Given the description of an element on the screen output the (x, y) to click on. 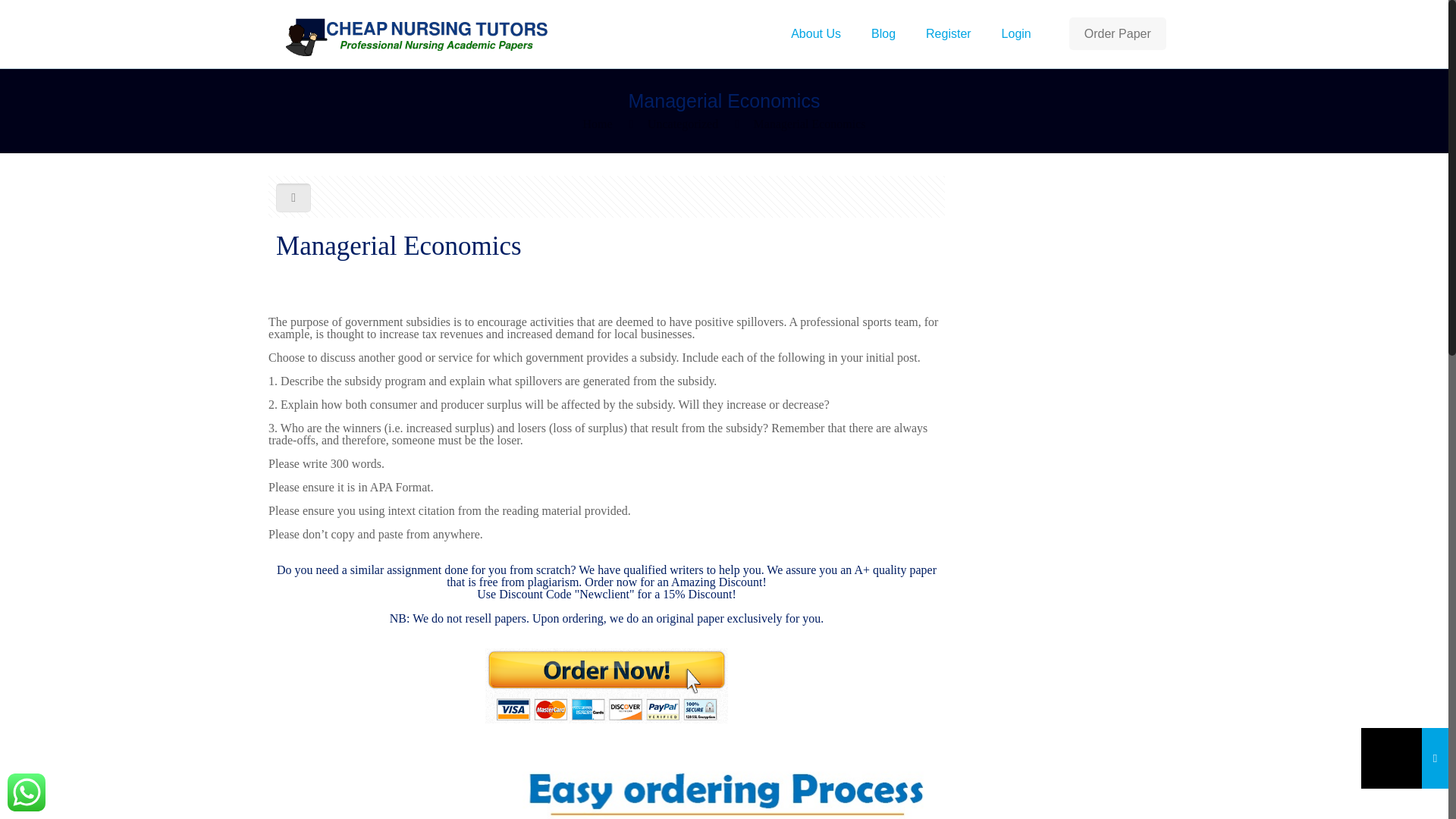
Uncategorized (682, 123)
WhatsApp us (26, 792)
Order Paper (1117, 33)
About Us (816, 33)
Cheap Nursing Tutors (417, 33)
Home (596, 123)
Register (949, 33)
